Given the description of an element on the screen output the (x, y) to click on. 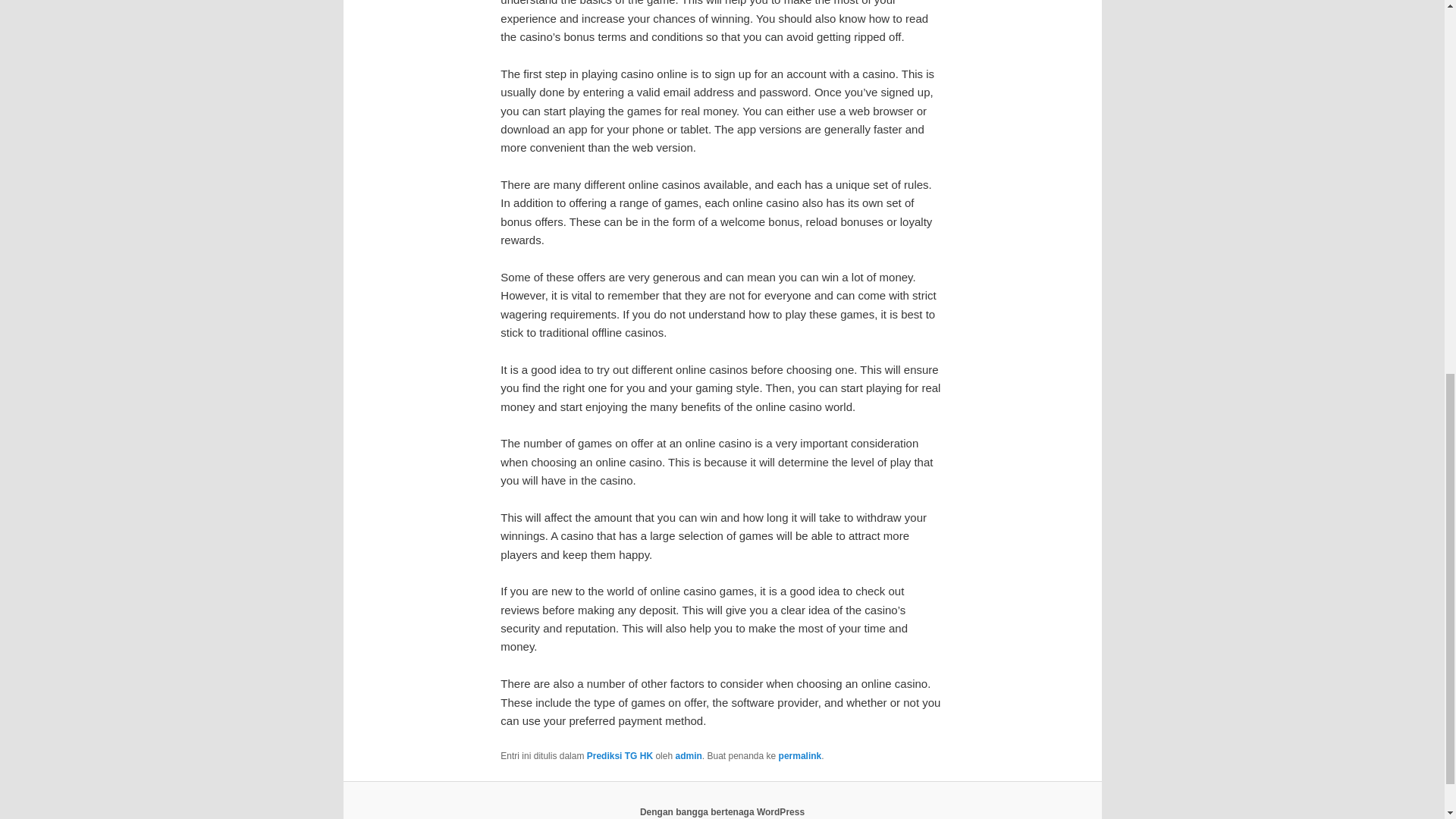
Permalink untuk How to Play Casino Online (800, 756)
admin (688, 756)
Dengan bangga bertenaga WordPress (722, 810)
Prediksi TG HK (619, 756)
Platform Penerbitan Semantik Pribadi (722, 810)
permalink (800, 756)
